Given the description of an element on the screen output the (x, y) to click on. 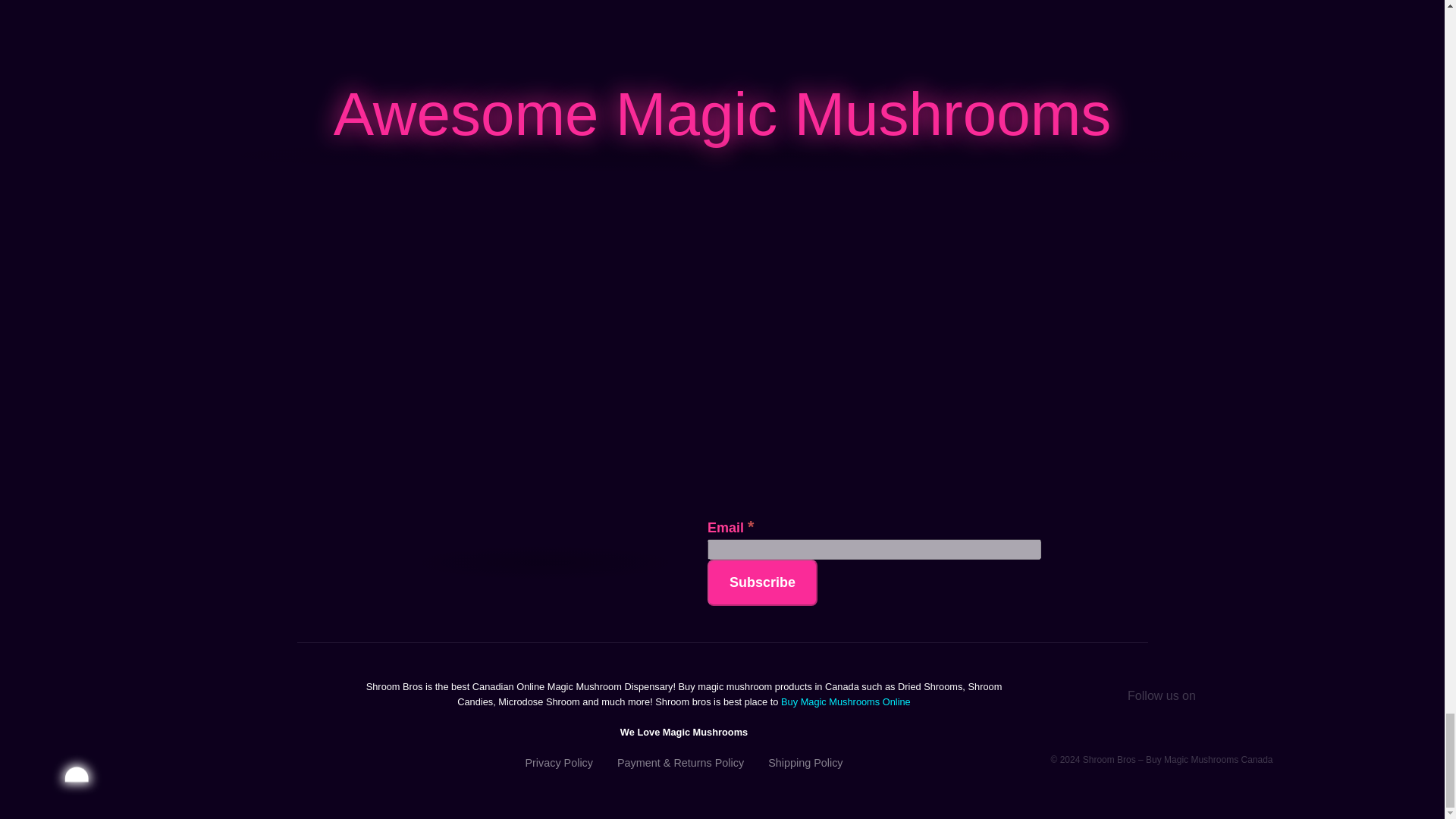
Subscribe (761, 582)
